Given the description of an element on the screen output the (x, y) to click on. 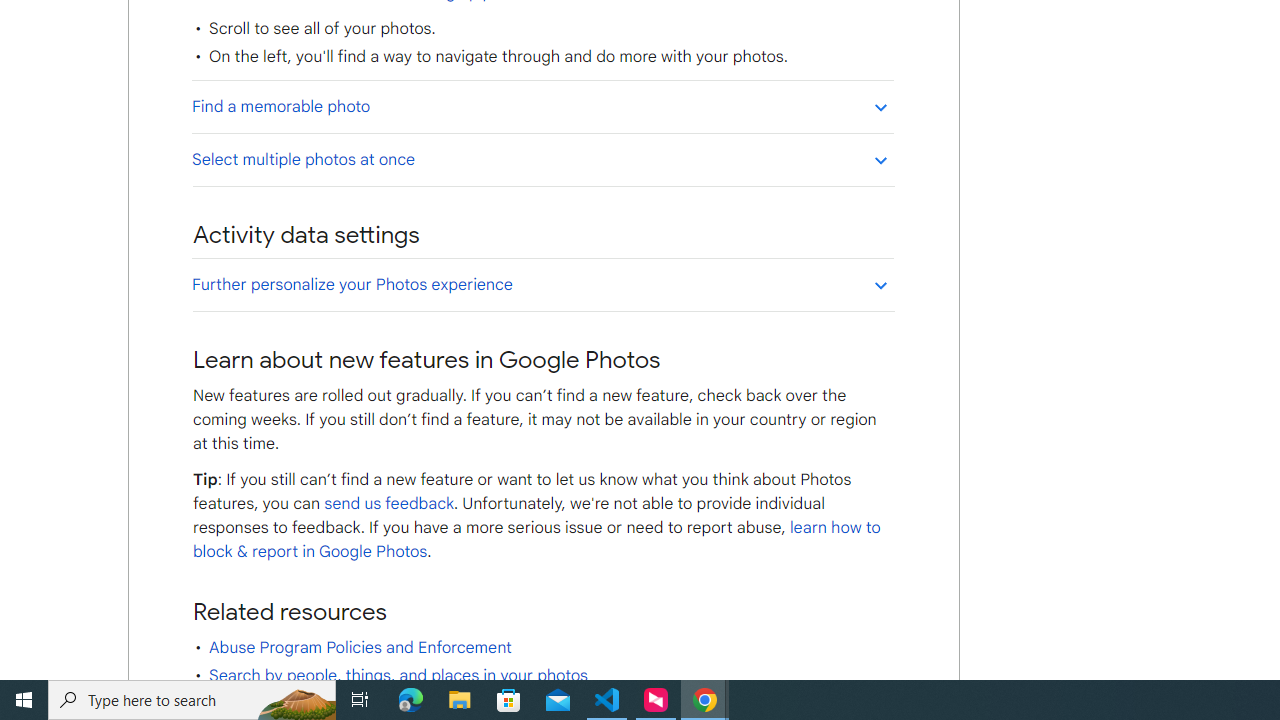
Further personalize your Photos experience (542, 284)
send us feedback (388, 503)
Search by people, things, and places in your photos (397, 676)
Find a memorable photo (542, 106)
Select multiple photos at once (542, 159)
Abuse Program Policies and Enforcement (360, 647)
learn how to block & report in Google Photos (536, 539)
